Given the description of an element on the screen output the (x, y) to click on. 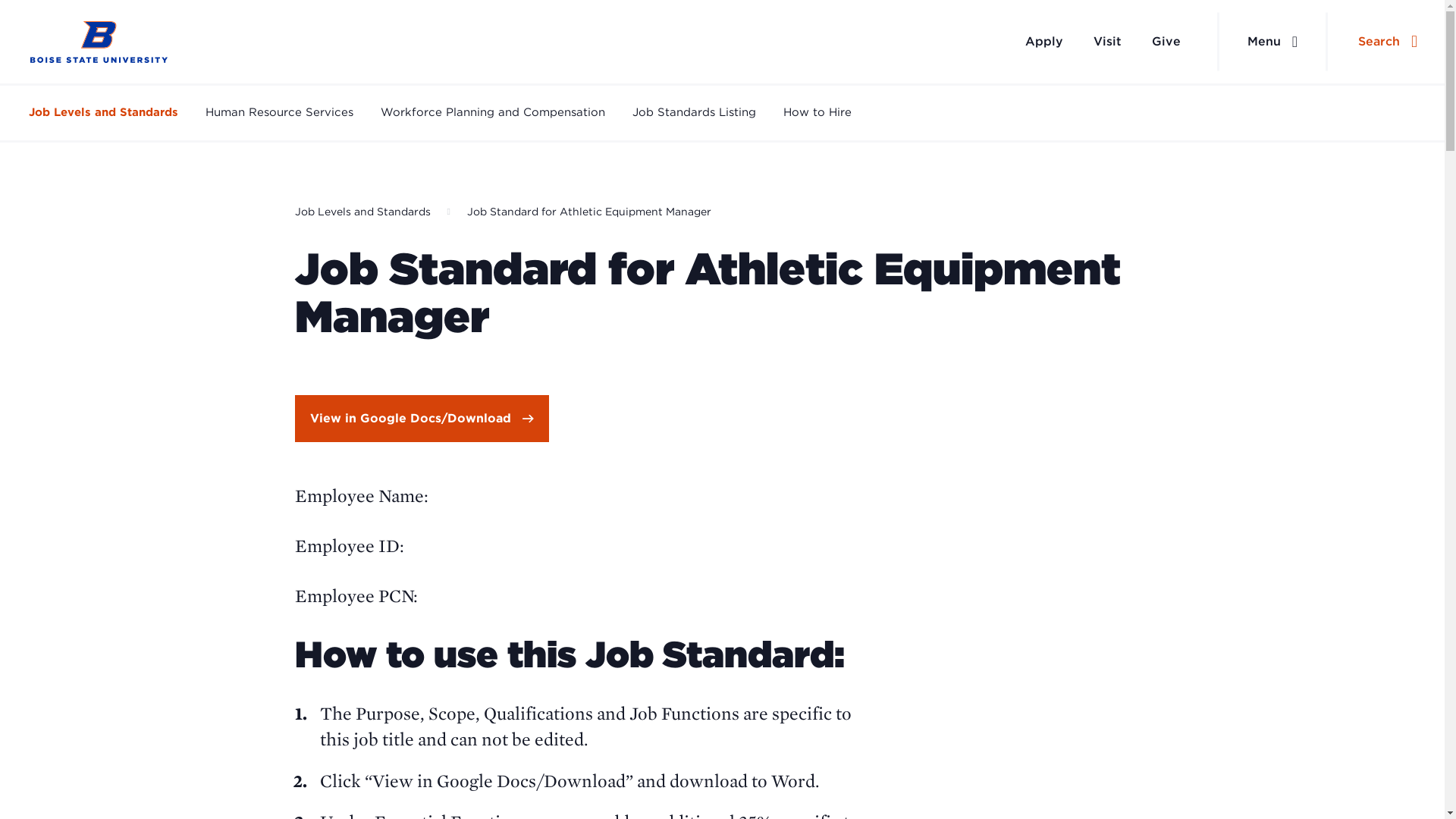
Give (1166, 41)
Job Standard for Athletic Equipment Manager (589, 211)
Human Resource Services (279, 112)
Job Levels and Standards (361, 211)
Visit (1107, 41)
Job Levels and Standards Home (98, 41)
Apply (1044, 41)
How to Hire (817, 112)
Job Standards Listing (693, 112)
Job Levels and Standards (103, 112)
